Given the description of an element on the screen output the (x, y) to click on. 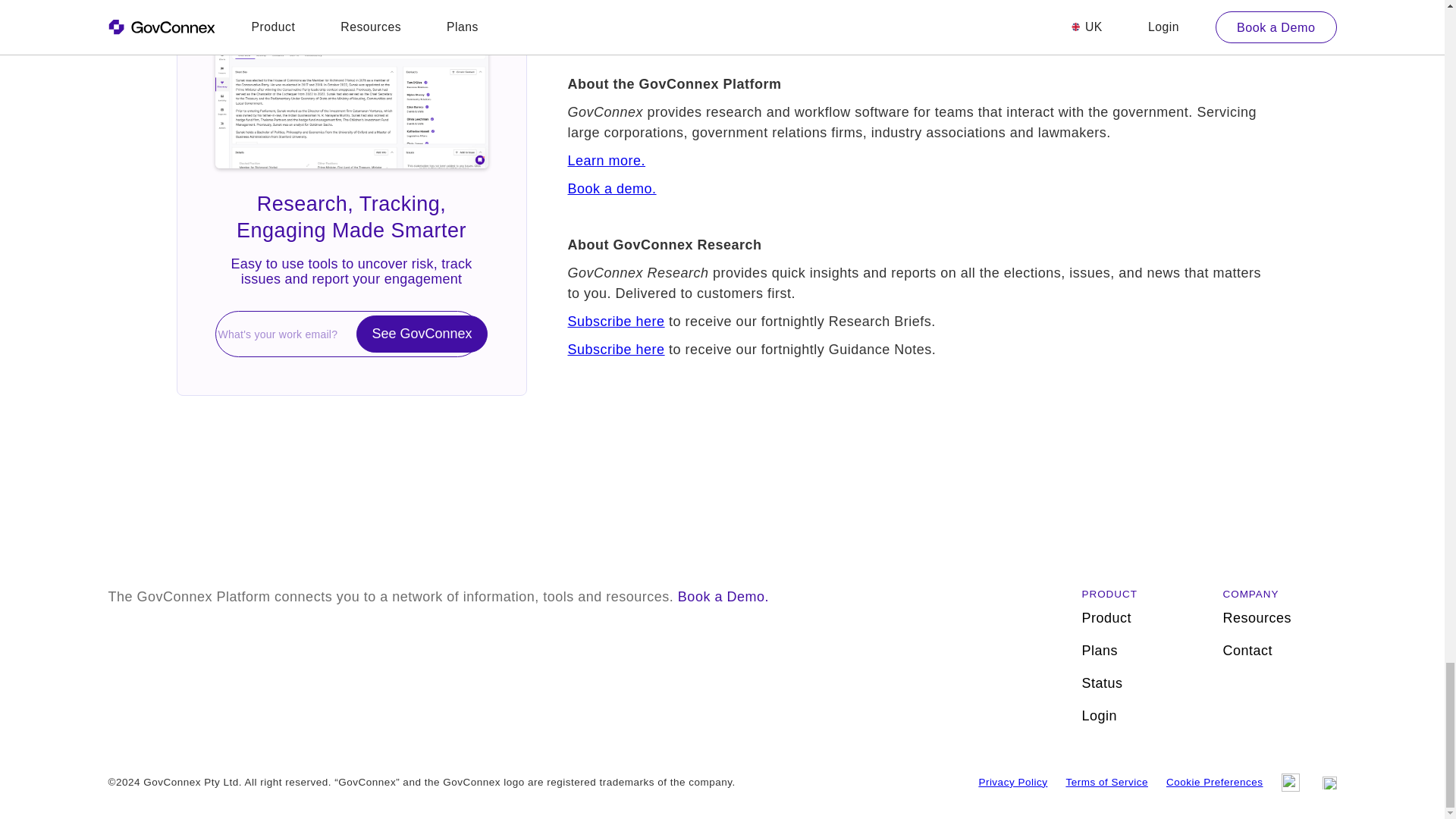
Cookie Preferences (1214, 782)
Plans (1138, 650)
Subscribe here (615, 321)
Contact (1279, 650)
Book a demo. (611, 188)
Subscribe here (615, 349)
Privacy Policy (1012, 782)
Status (1138, 683)
Resources (1279, 617)
Book a Demo. (723, 596)
Learn more. (606, 160)
Login (1138, 716)
Product (1138, 617)
Terms of Service (1106, 782)
